Given the description of an element on the screen output the (x, y) to click on. 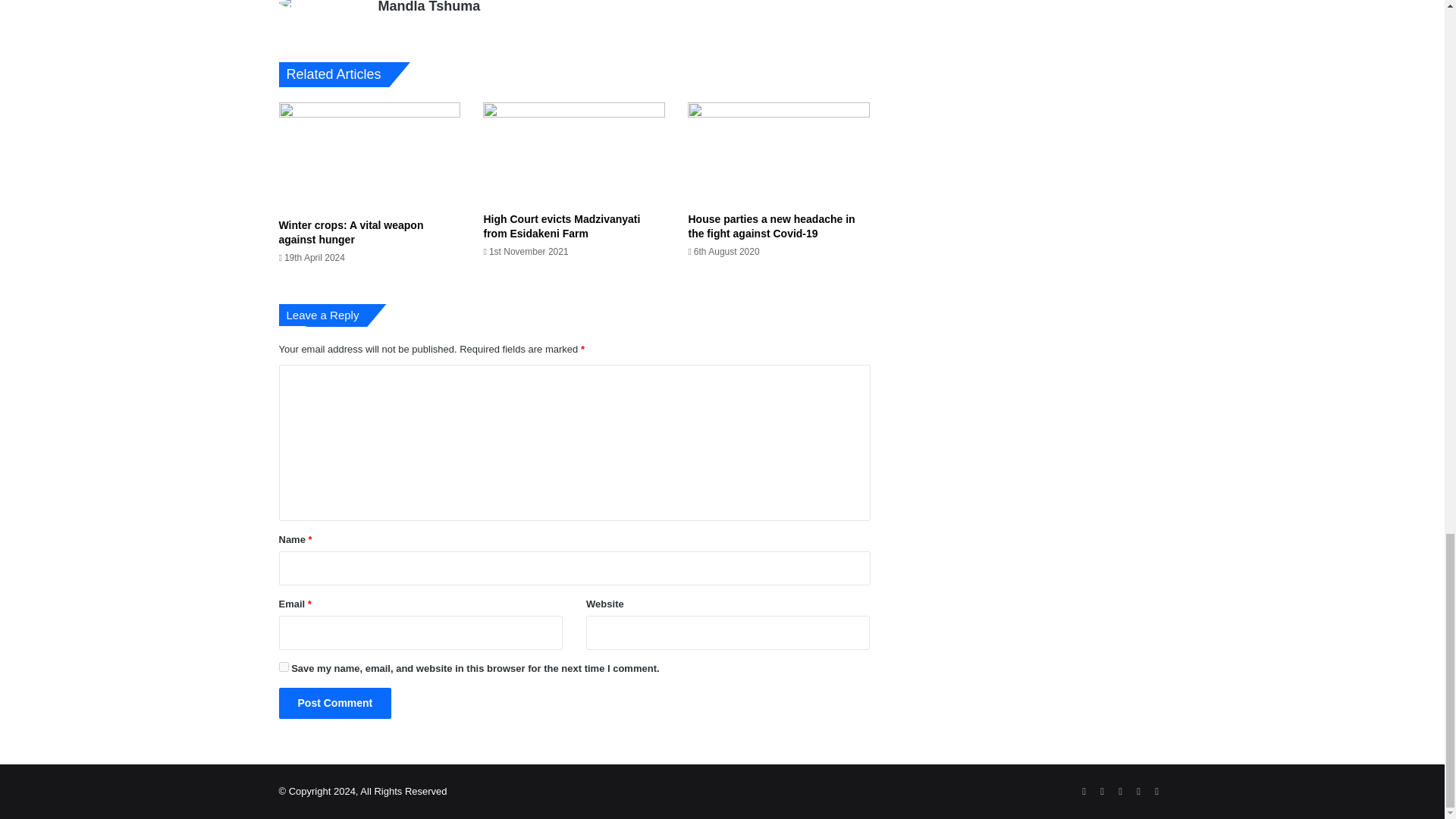
High Court evicts Madzivanyati from Esidakeni Farm (561, 225)
Post Comment (335, 703)
Mandla Tshuma (428, 6)
House parties a new headache in the fight against Covid-19 (770, 225)
yes (283, 666)
Winter crops: A vital weapon against hunger (351, 232)
